Given the description of an element on the screen output the (x, y) to click on. 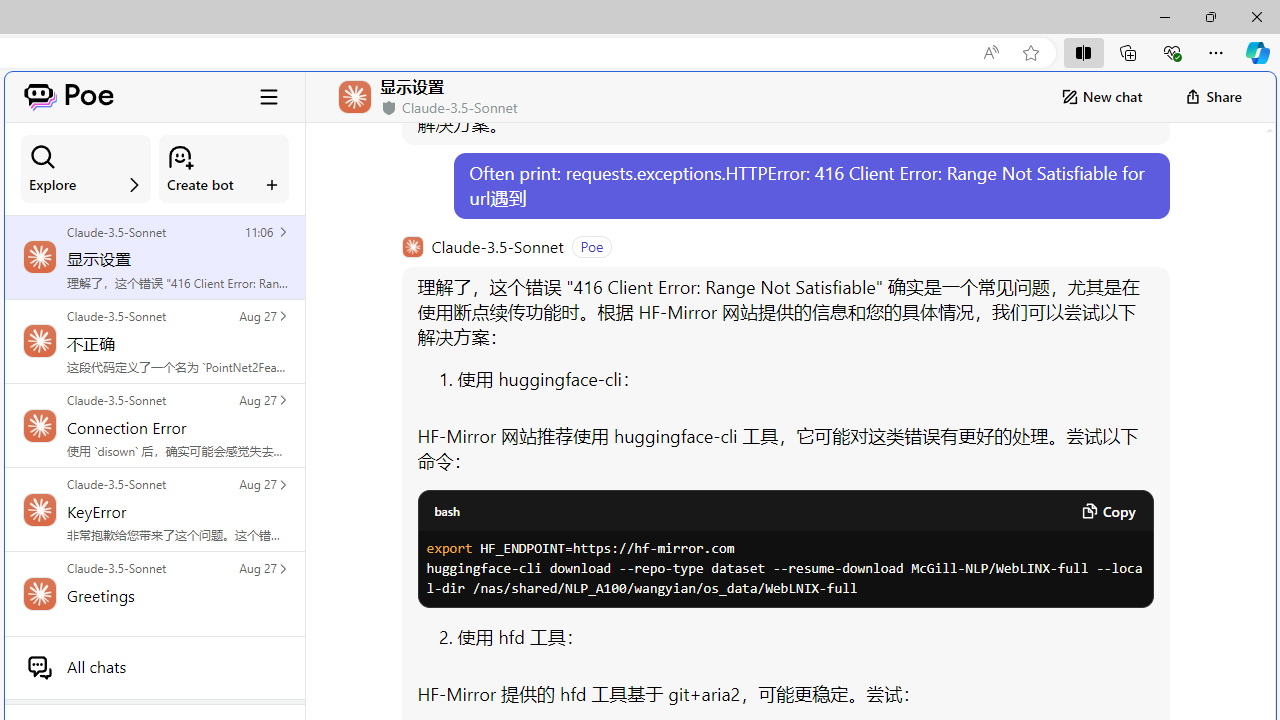
New chat (1101, 96)
Poe (68, 96)
Class: ToggleSidebarCollapseButton_hamburgerIcon__VuiyV (269, 96)
Class: ManageBotsCardSection_createBotIcon__9JUYg (180, 157)
Explore (85, 169)
